Given the description of an element on the screen output the (x, y) to click on. 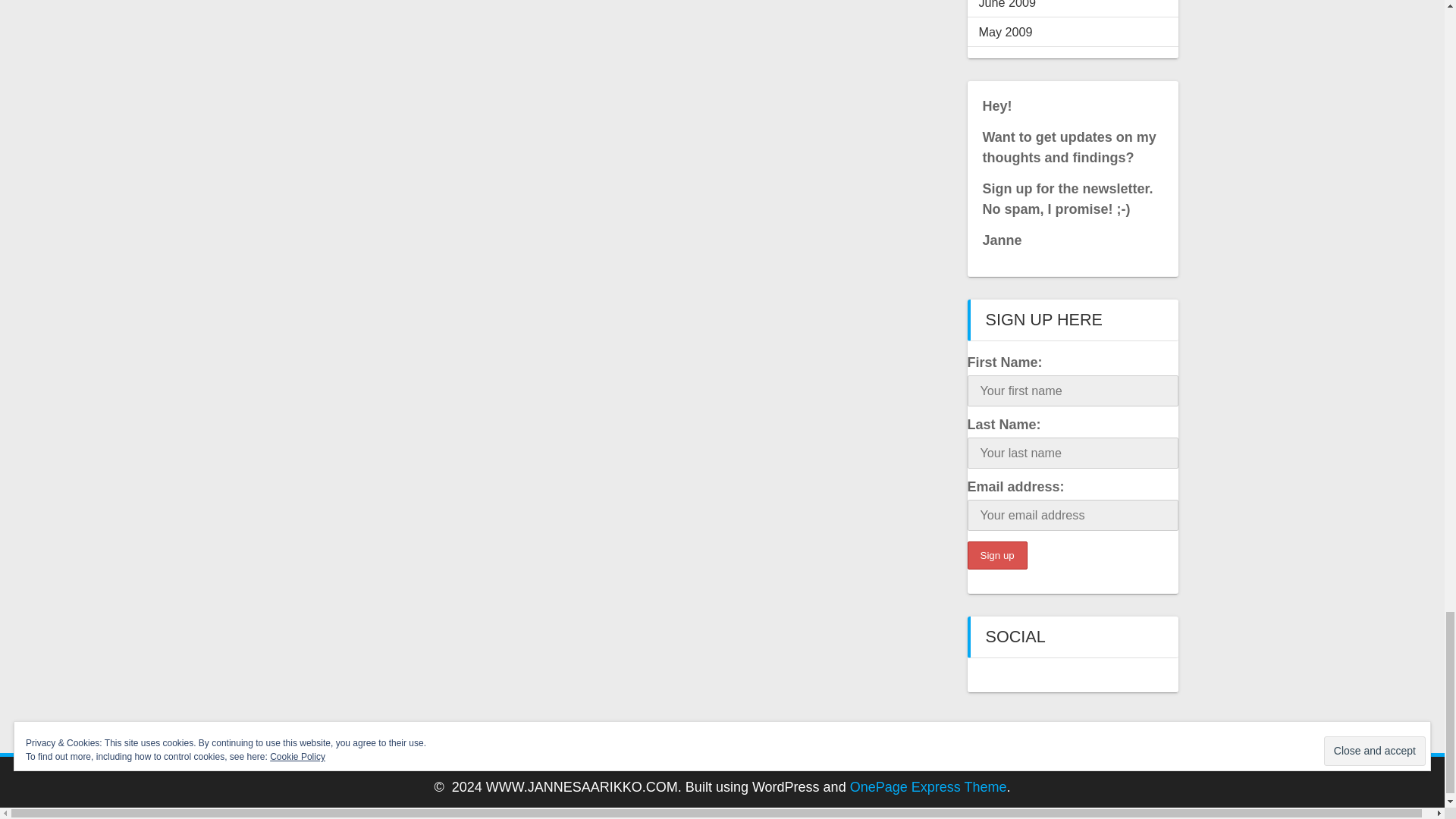
Sign up (997, 555)
